Given the description of an element on the screen output the (x, y) to click on. 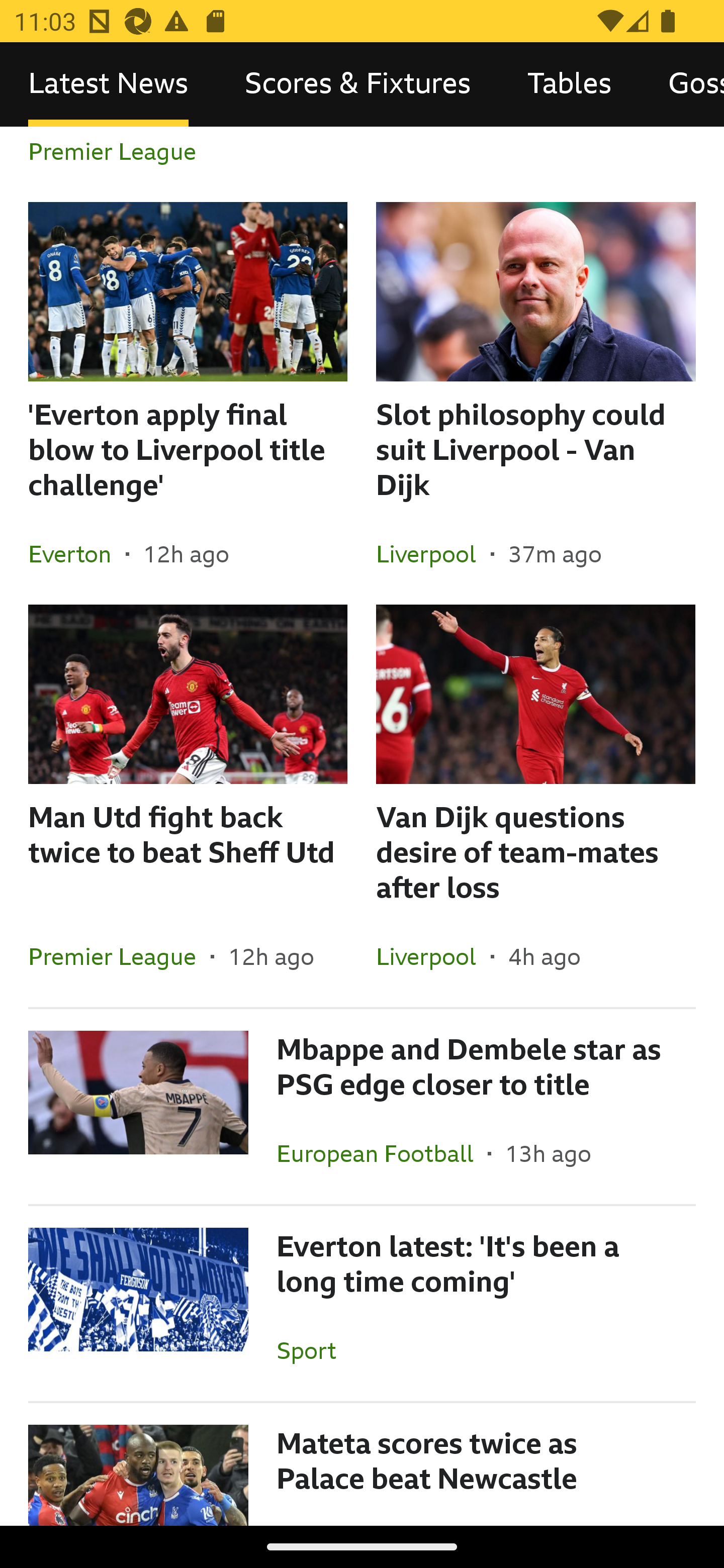
Latest News, selected Latest News (108, 84)
Scores & Fixtures (357, 84)
Tables (569, 84)
Premier League In the section Premier League (119, 164)
Everton In the section Everton (76, 554)
Liverpool In the section Liverpool (432, 554)
Premier League In the section Premier League (119, 956)
Liverpool In the section Liverpool (432, 956)
European Football In the section European Football (381, 1153)
Sport In the section Sport (313, 1350)
